Given the description of an element on the screen output the (x, y) to click on. 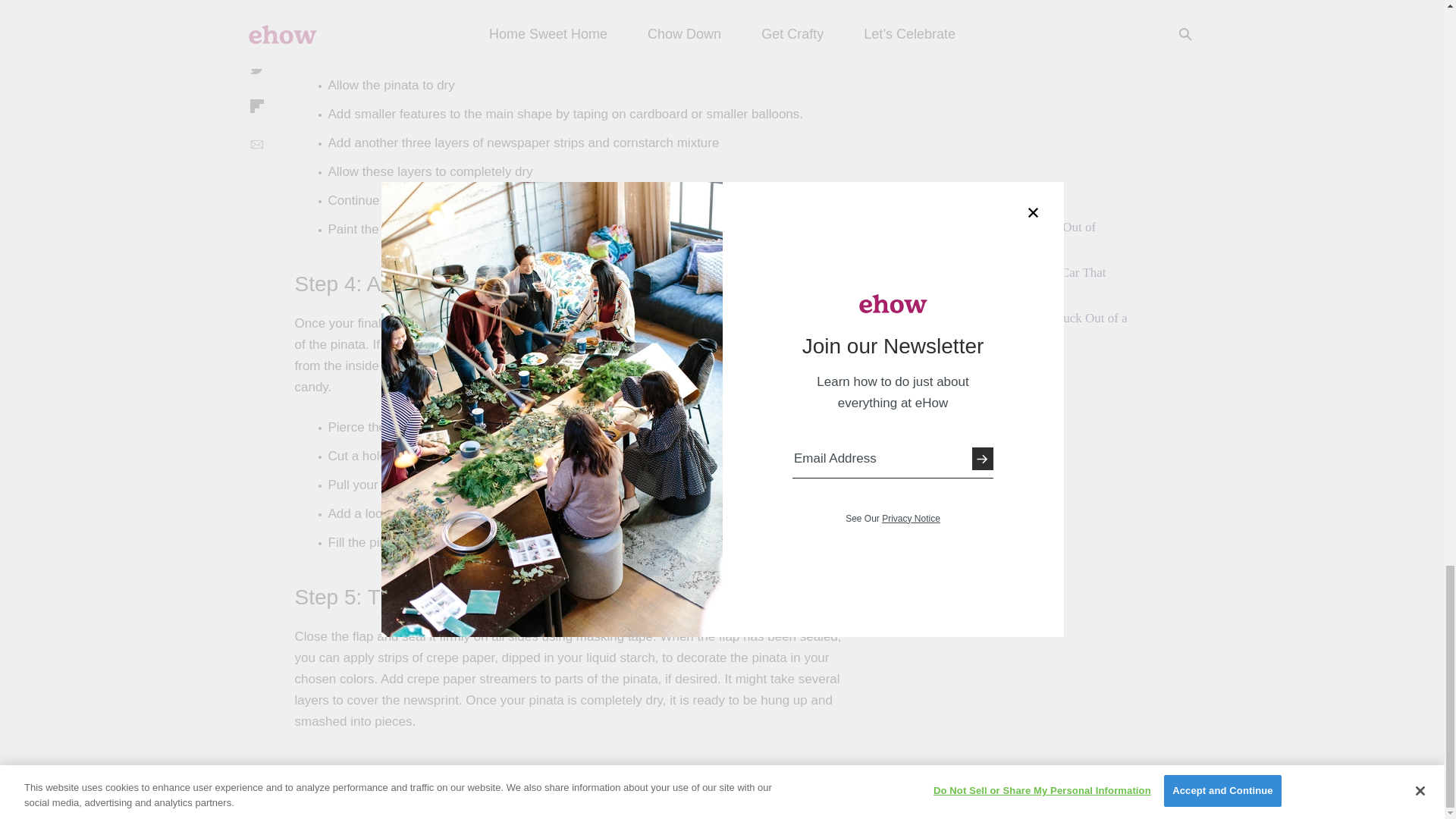
How to Make a Globe Out of Recycled Items (1020, 236)
How to Make a Paper Car That Moves (1024, 281)
How to Make a Fire Truck Out of a Cardboard Box (1035, 327)
